Given the description of an element on the screen output the (x, y) to click on. 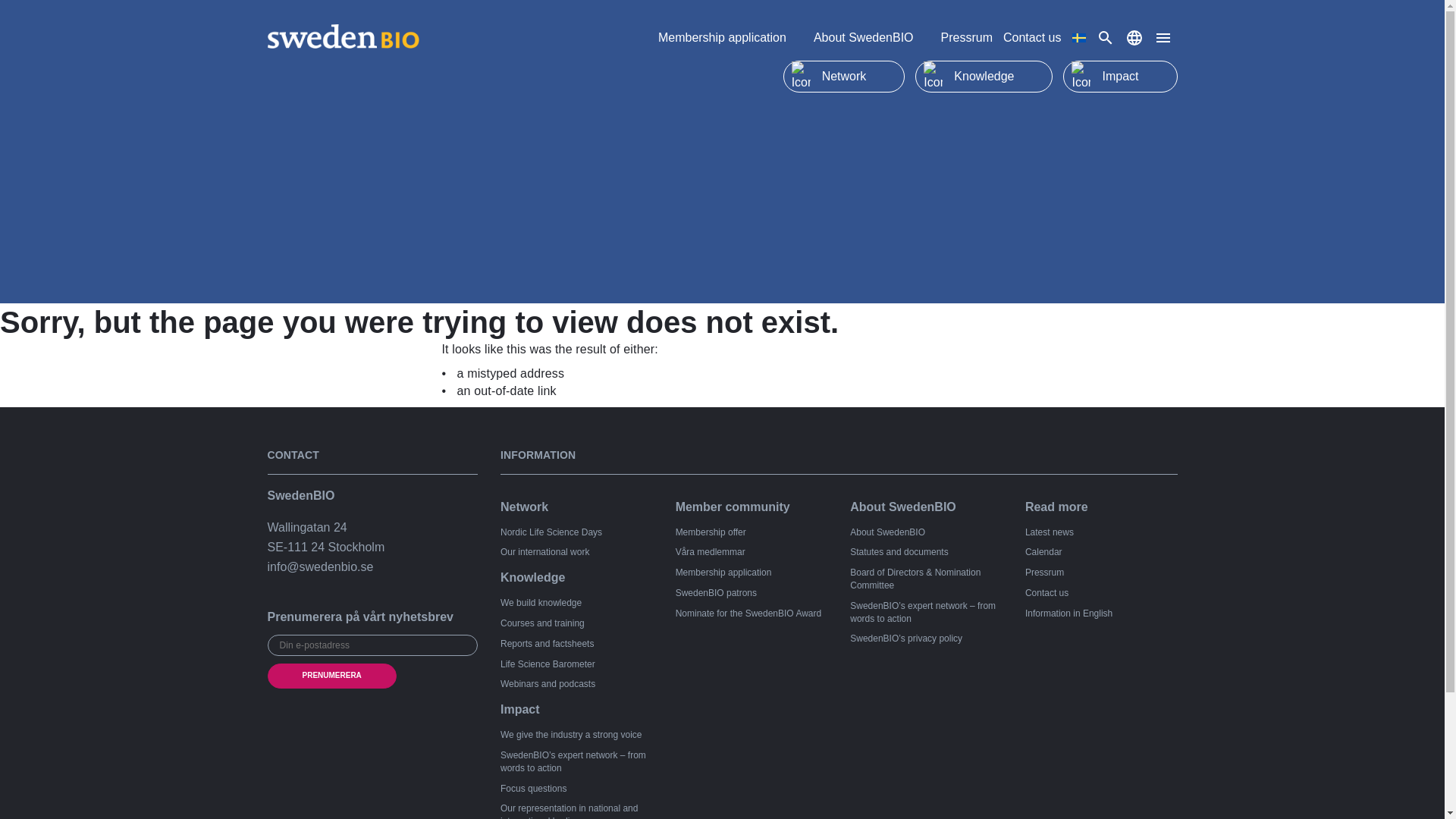
About SwedenBIO (871, 37)
Knowledge (983, 76)
Membership application (730, 37)
Impact (1119, 76)
Network (844, 76)
Pressrum (966, 37)
Contact us (1032, 37)
